Given the description of an element on the screen output the (x, y) to click on. 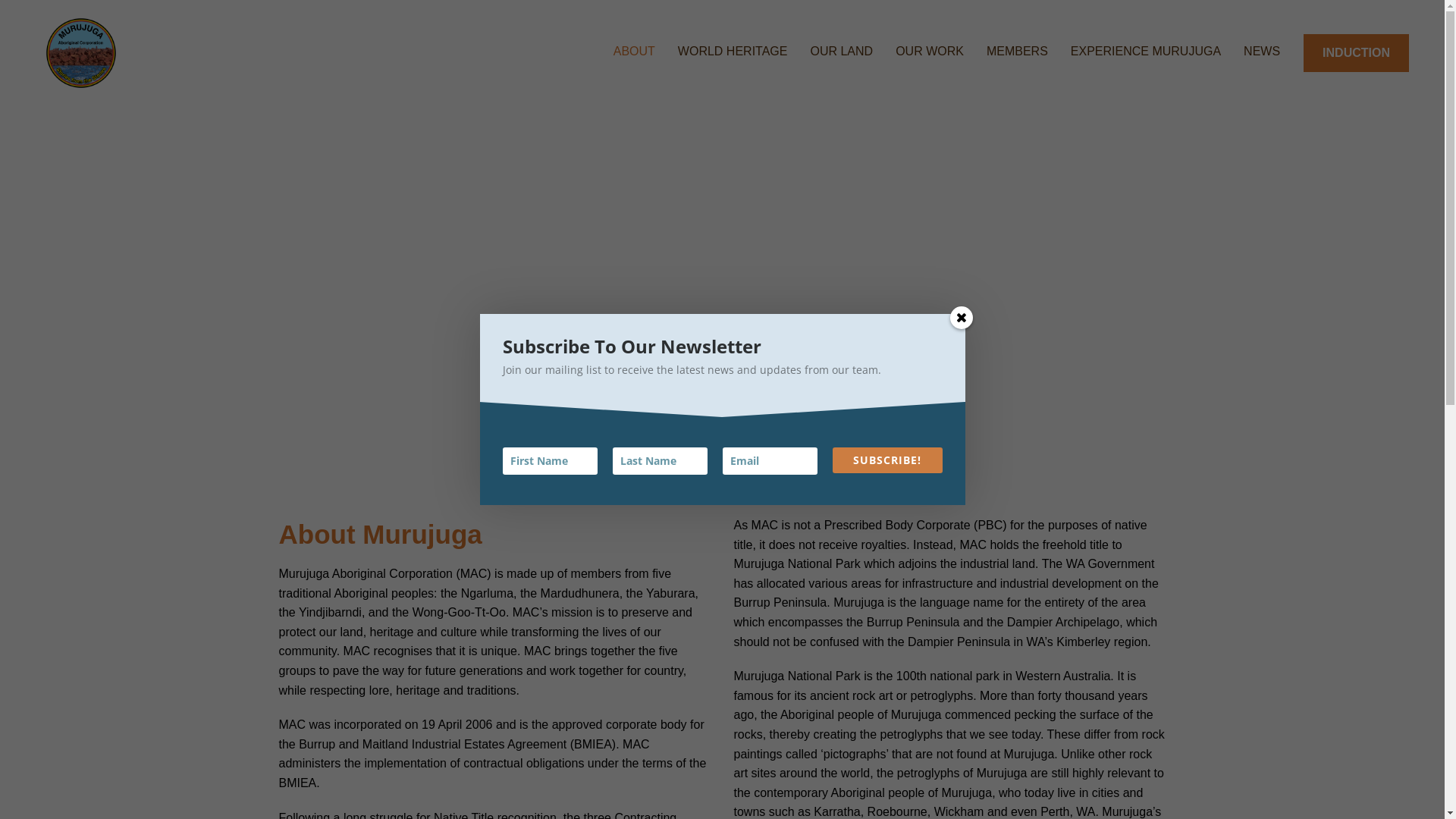
ABOUT Element type: text (634, 53)
OUR LAND Element type: text (840, 53)
NEWS Element type: text (1261, 53)
WORLD HERITAGE Element type: text (732, 53)
Murujuga Aboriginal Corporation (MAC) Element type: hover (140, 53)
SUBSCRIBE! Element type: text (887, 460)
EXPERIENCE MURUJUGA Element type: text (1145, 53)
MEMBERS Element type: text (1017, 53)
INDUCTION Element type: text (1355, 53)
OUR WORK Element type: text (929, 53)
